Given the description of an element on the screen output the (x, y) to click on. 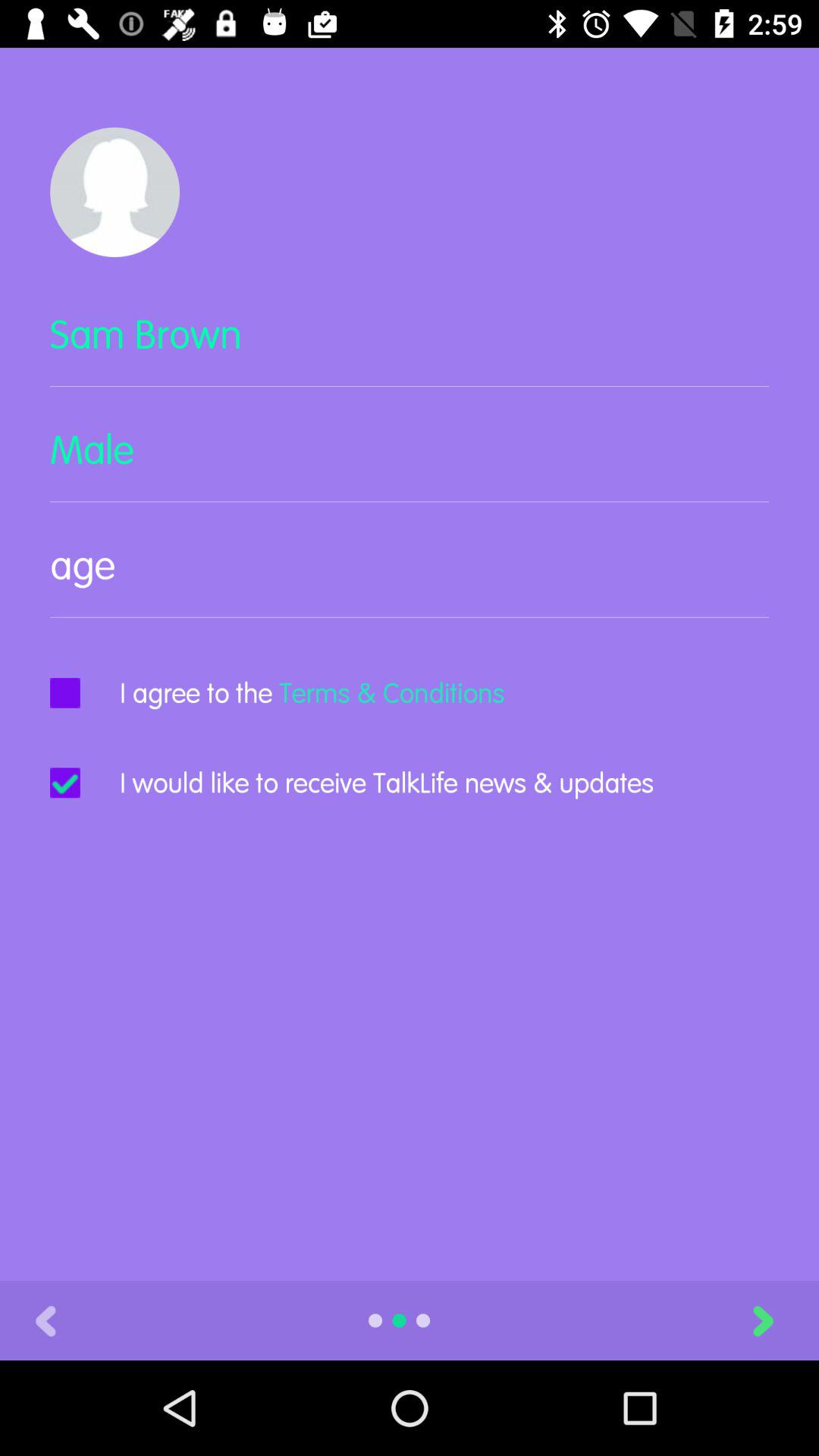
choose the icon at the top left corner (114, 192)
